Given the description of an element on the screen output the (x, y) to click on. 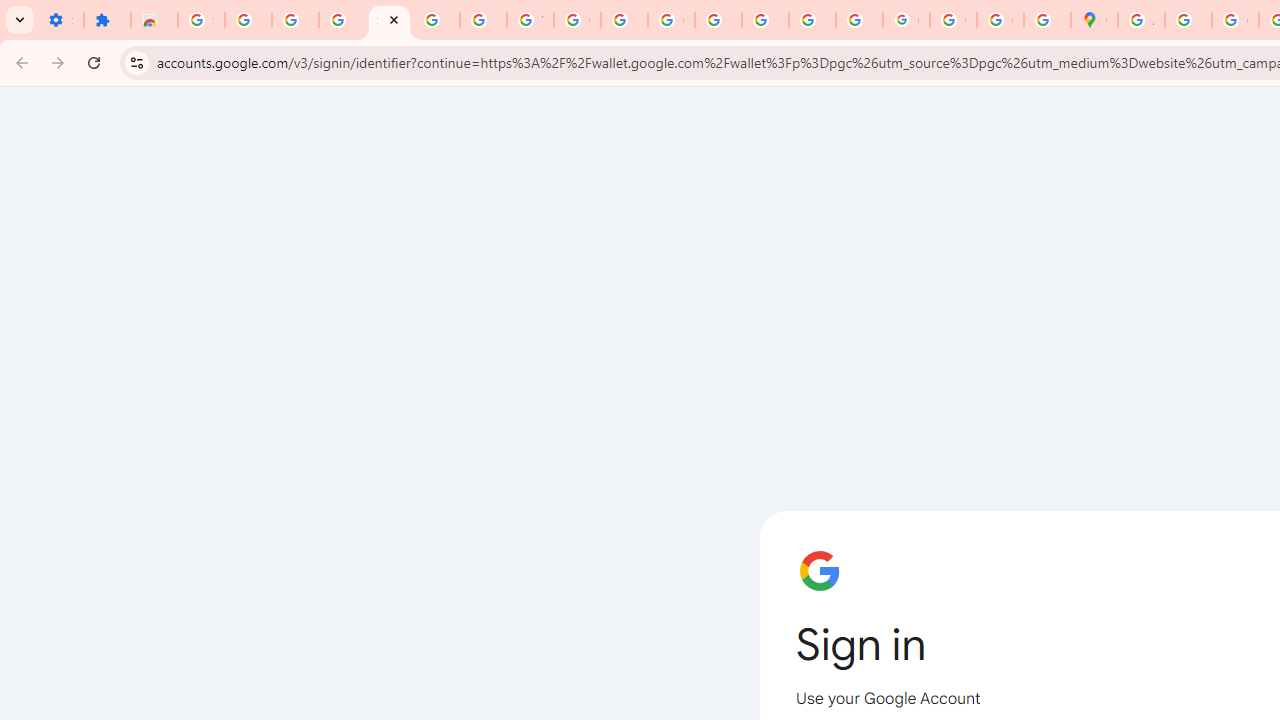
Settings - On startup (60, 20)
